Given the description of an element on the screen output the (x, y) to click on. 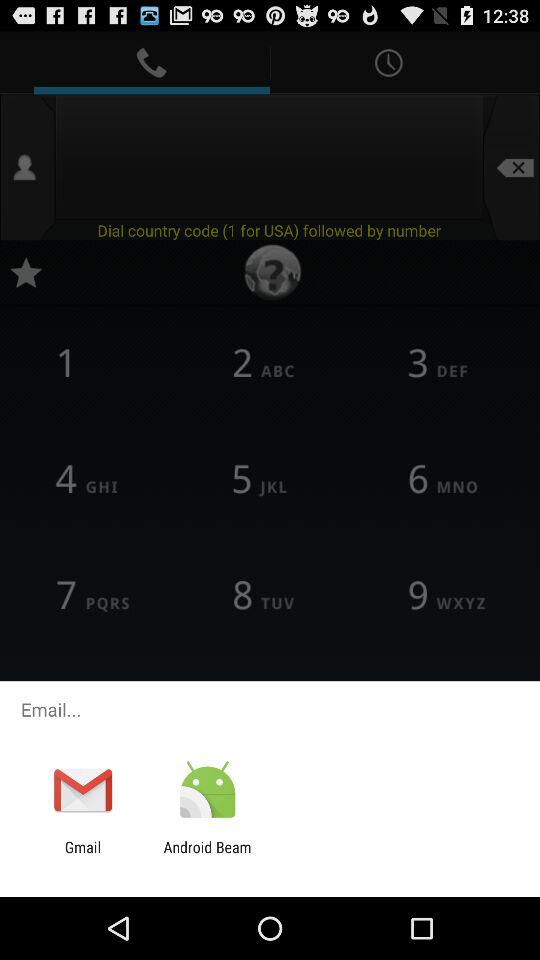
open the item next to the gmail icon (207, 856)
